Given the description of an element on the screen output the (x, y) to click on. 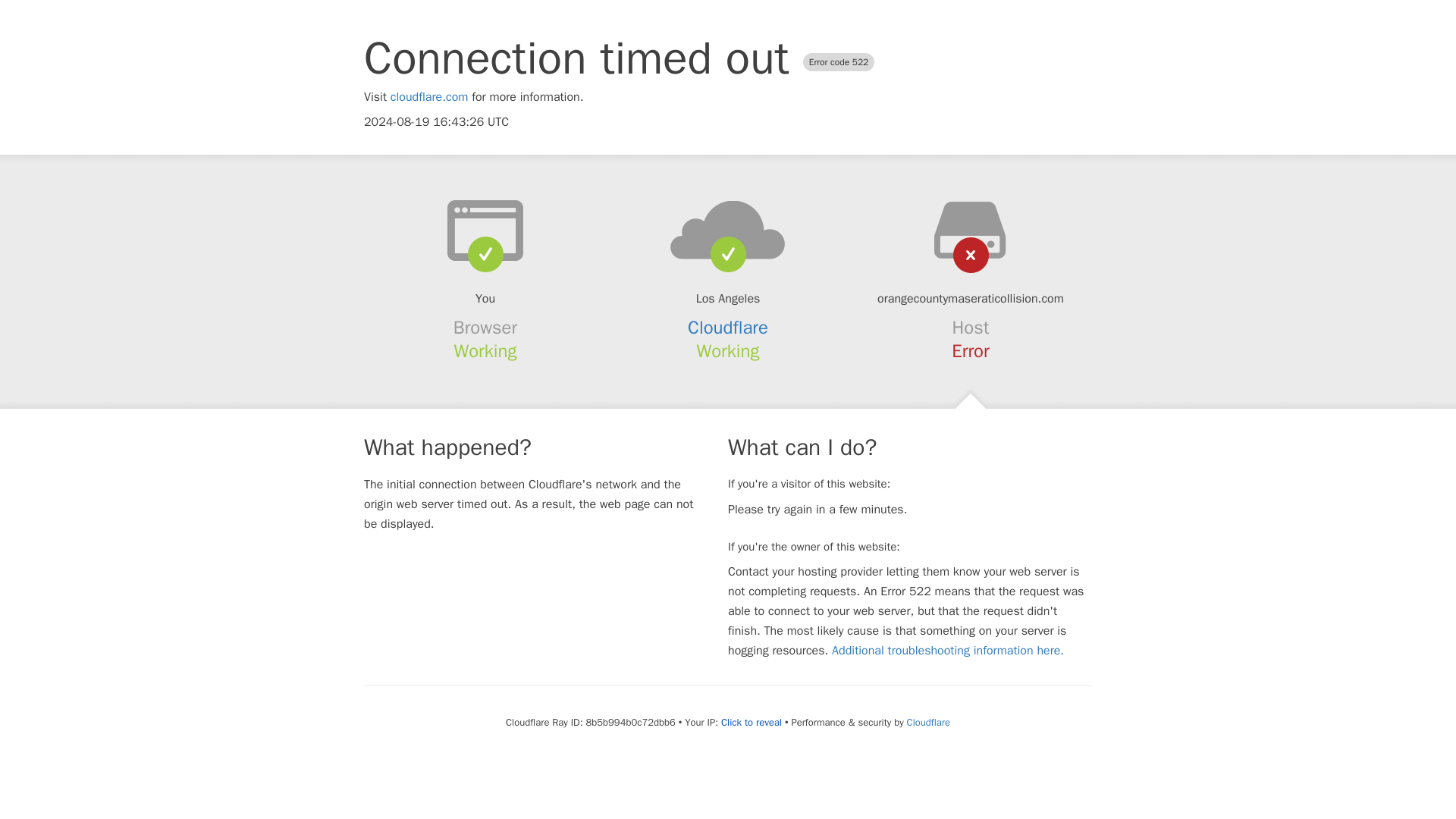
Click to reveal (750, 722)
Cloudflare (928, 721)
Additional troubleshooting information here. (947, 650)
Cloudflare (727, 327)
cloudflare.com (429, 96)
